Given the description of an element on the screen output the (x, y) to click on. 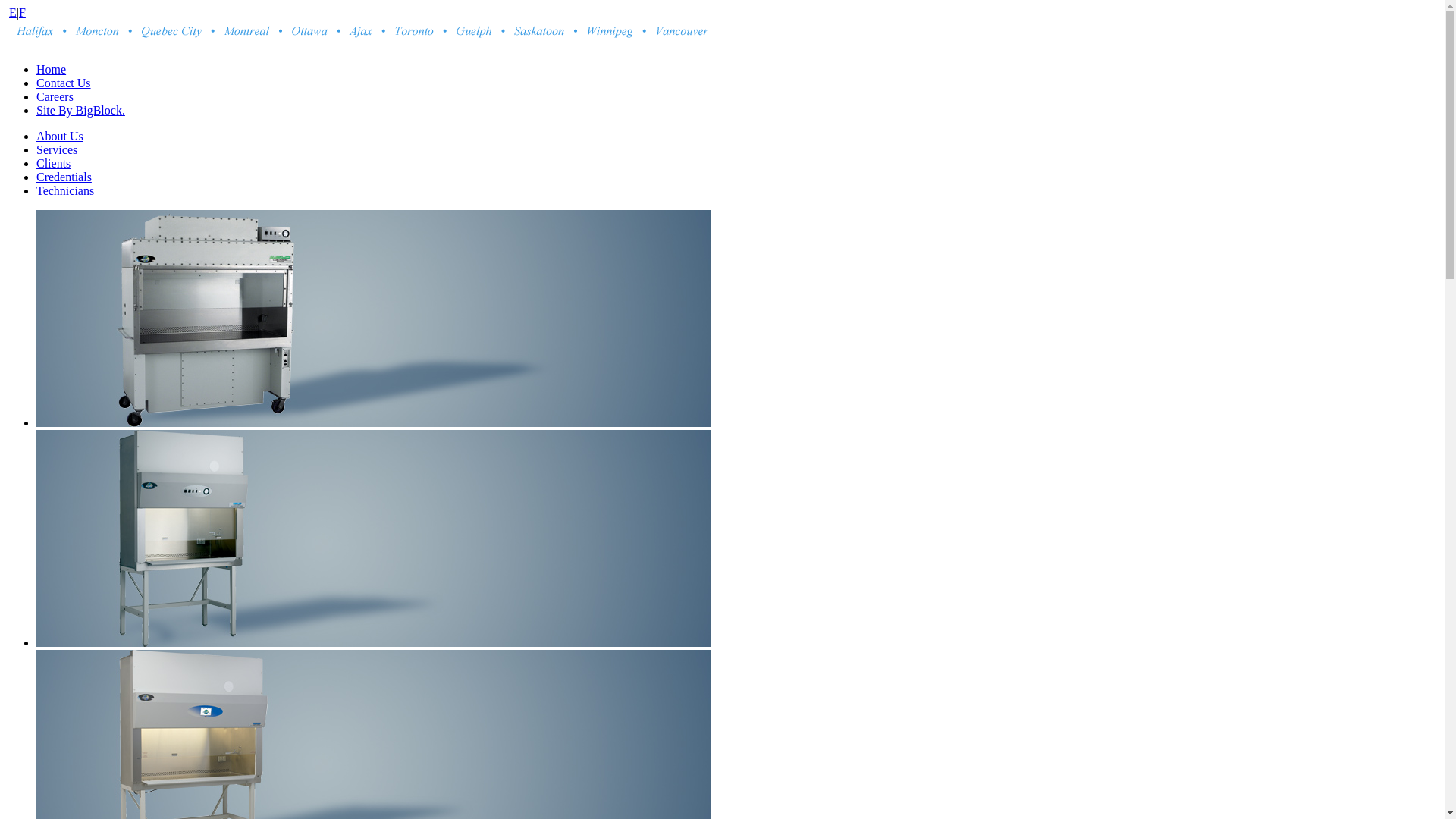
Home (50, 69)
Technicians (65, 190)
Clients (52, 163)
Services (56, 149)
Credentials (63, 176)
Site By BigBlock. (80, 110)
About Us (59, 135)
Careers (55, 96)
Contact Us (63, 82)
